Given the description of an element on the screen output the (x, y) to click on. 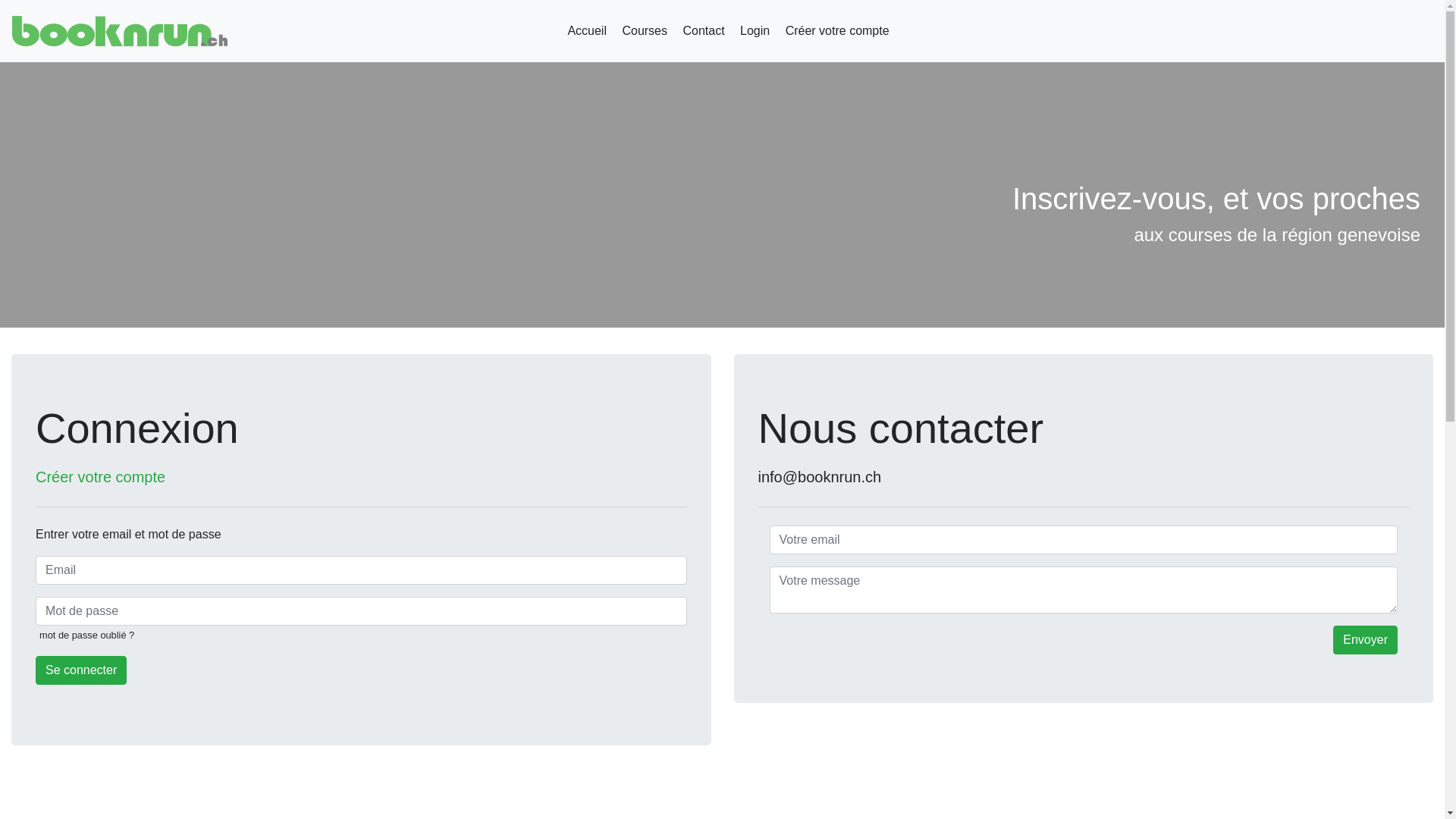
Accueil Element type: text (586, 30)
Courses Element type: text (644, 30)
Login Element type: text (754, 30)
Se connecter Element type: text (80, 669)
info@booknrun.ch Element type: text (819, 476)
Envoyer Element type: text (1365, 639)
Contact Element type: text (703, 30)
